Given the description of an element on the screen output the (x, y) to click on. 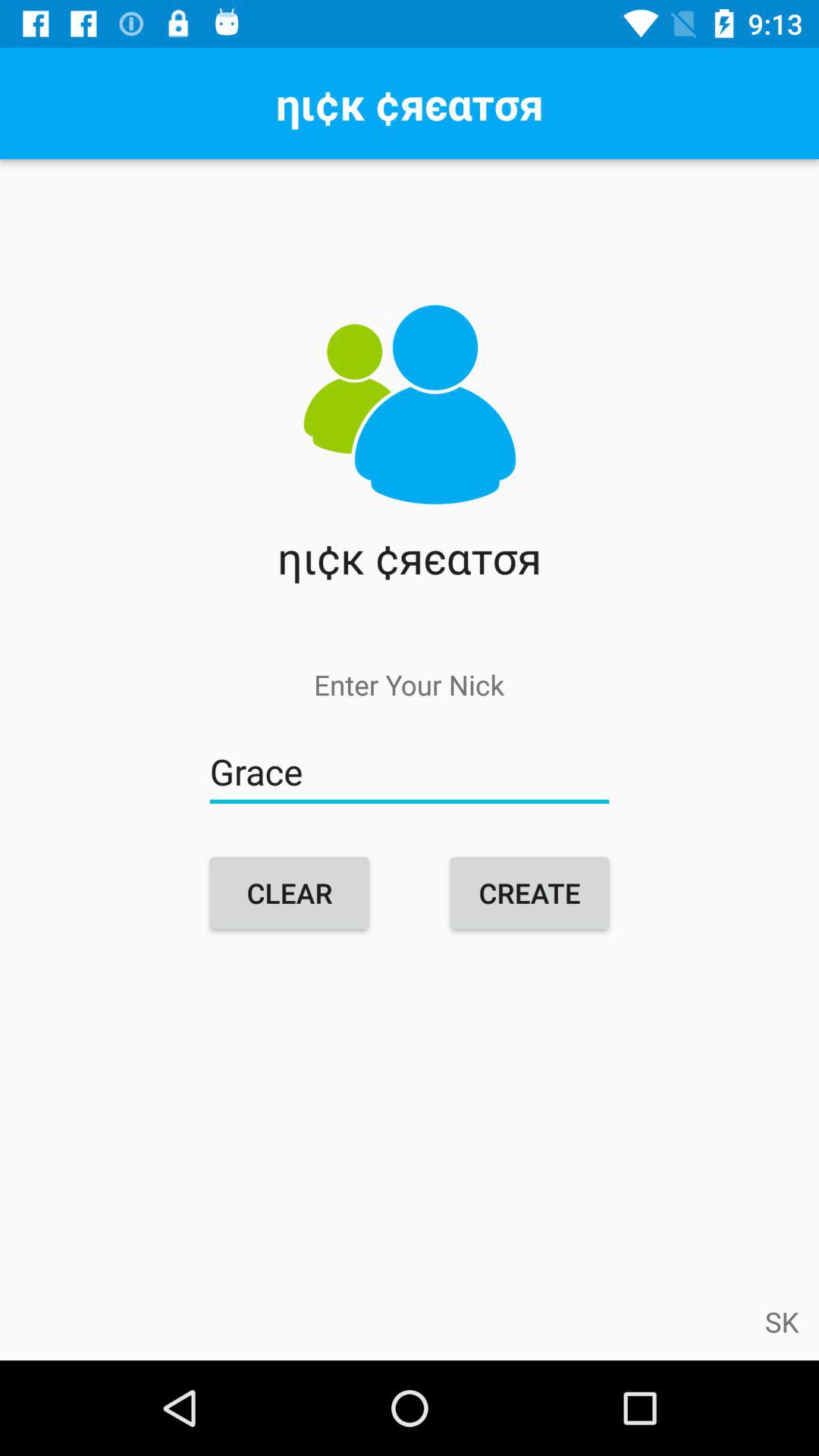
open the item to the right of the clear icon (529, 892)
